Given the description of an element on the screen output the (x, y) to click on. 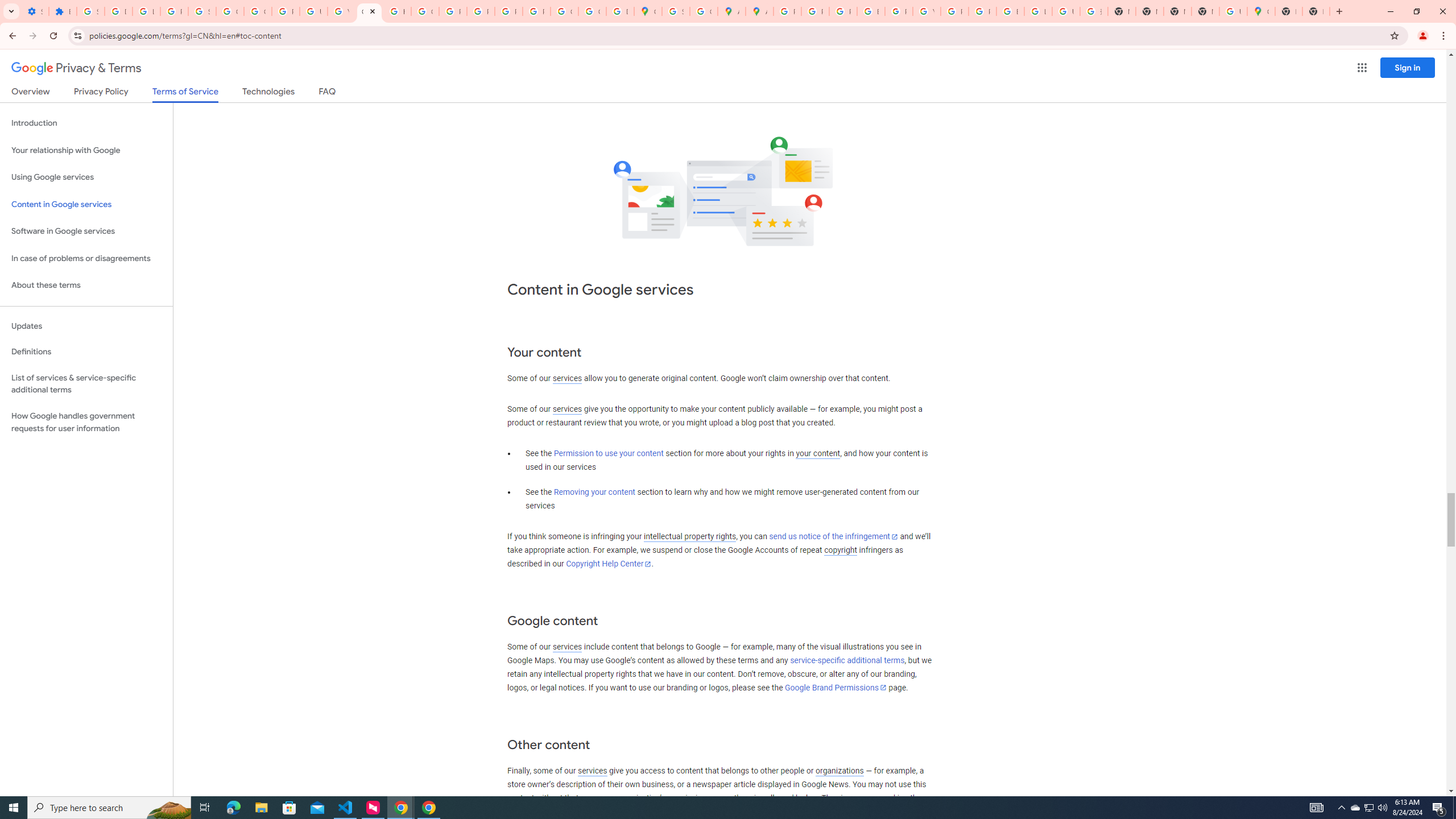
Definitions (86, 352)
Using Google services (86, 176)
In case of problems or disagreements (86, 258)
your content (817, 453)
Google Brand Permissions (835, 687)
Google Account Help (229, 11)
Content in Google services (86, 204)
Settings - On startup (34, 11)
